Given the description of an element on the screen output the (x, y) to click on. 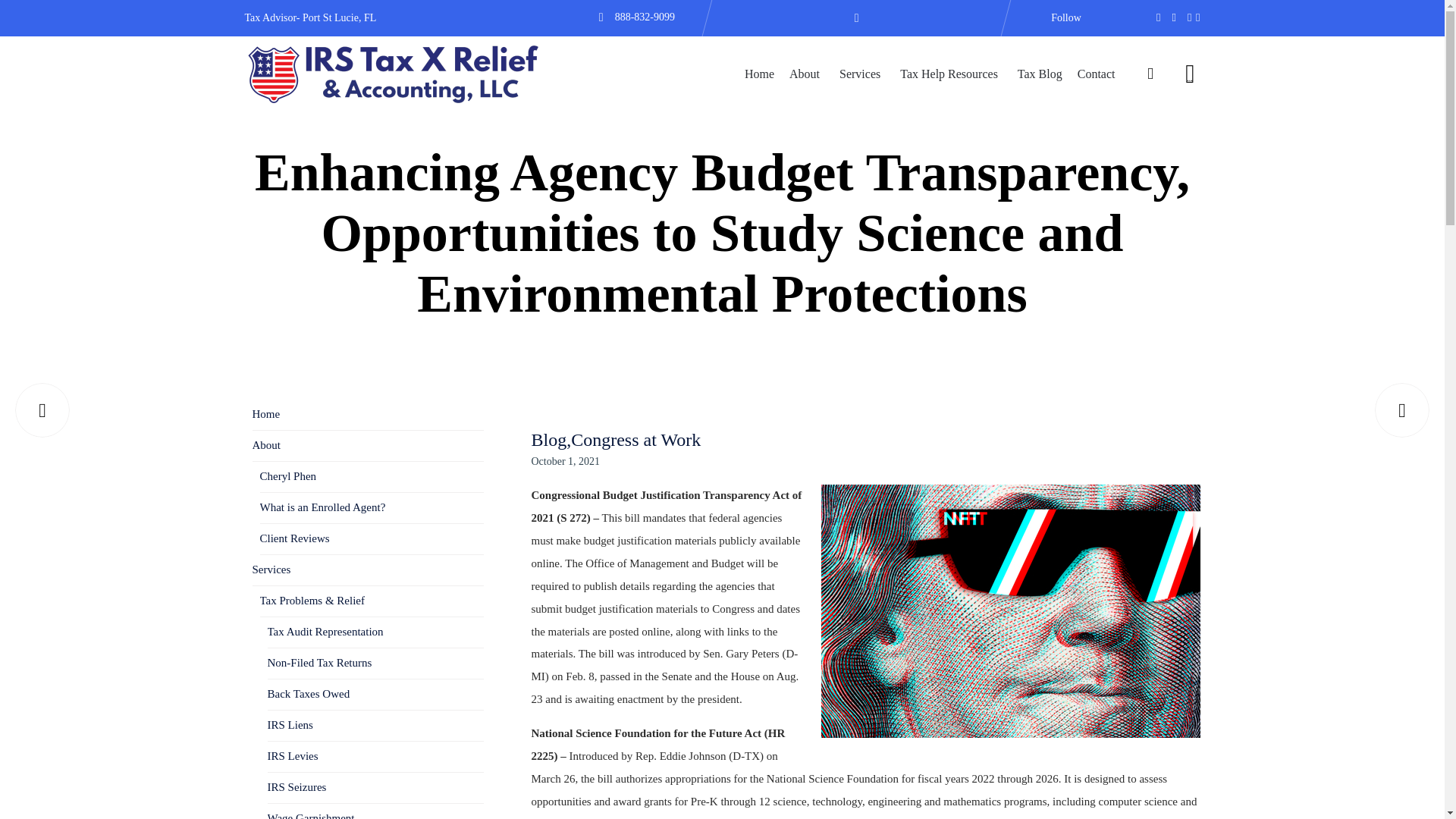
888-832-9099 (644, 17)
Home (758, 73)
About (806, 73)
Services (861, 73)
